Given the description of an element on the screen output the (x, y) to click on. 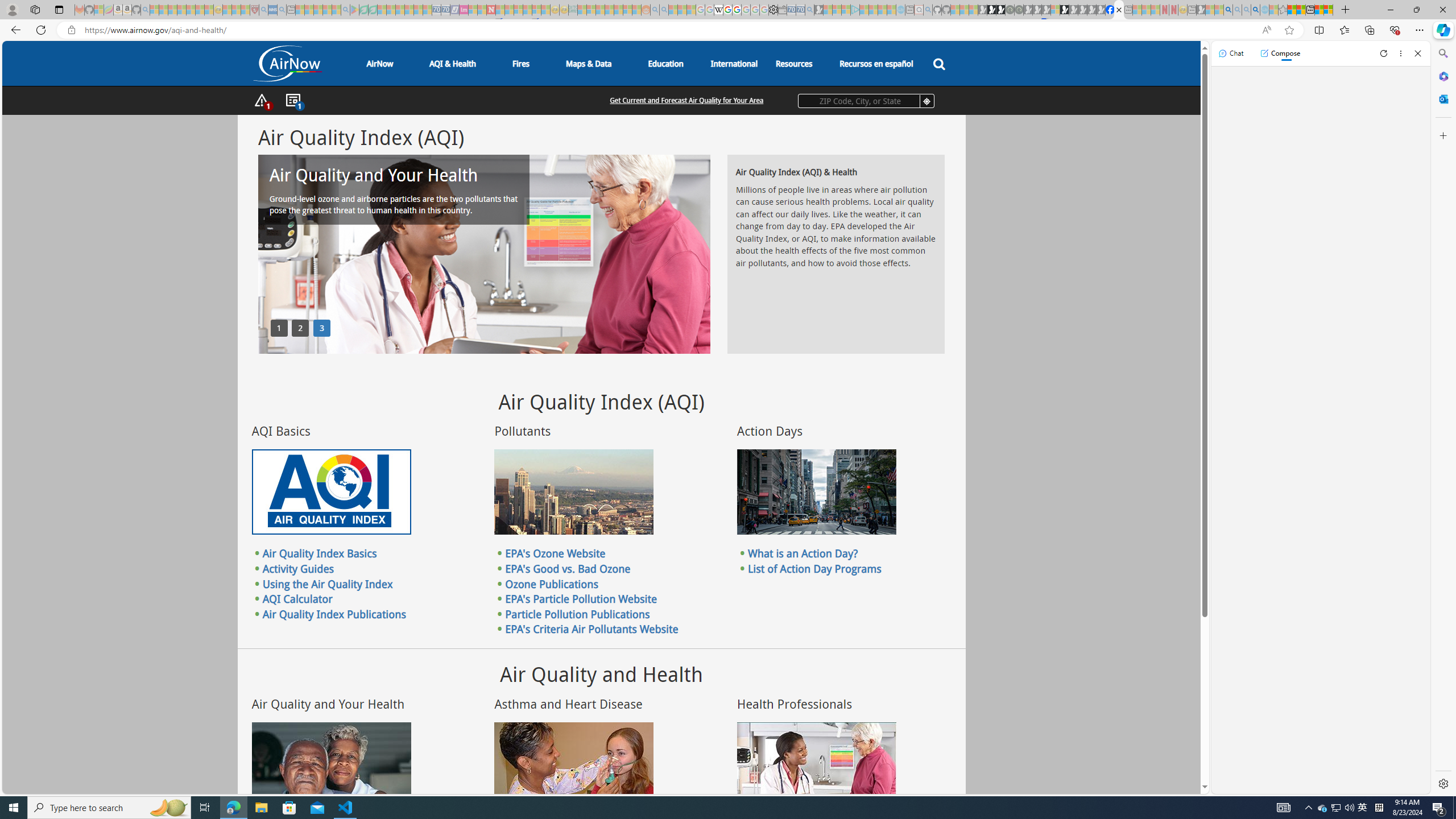
EPA's Particle Pollution Website (581, 598)
Bing Real Estate - Home sales and rental listings - Sleeping (809, 9)
Health Professionals (816, 763)
Expert Portfolios - Sleeping (608, 9)
Air Quality and Your Health (330, 764)
